Given the description of an element on the screen output the (x, y) to click on. 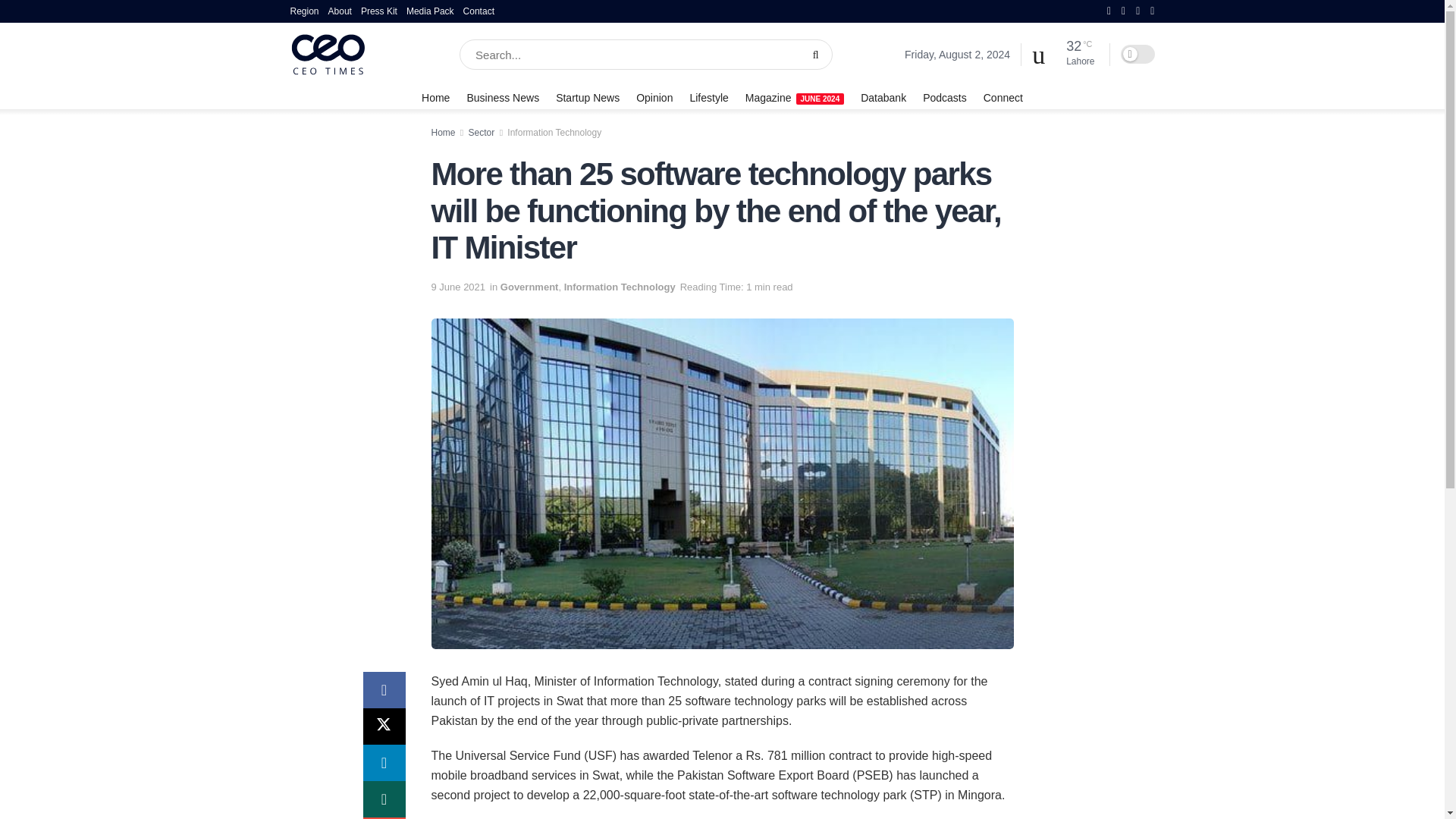
Podcasts (944, 97)
About (340, 11)
Opinion (654, 97)
Connect (1003, 97)
Media Pack (430, 11)
Press Kit (379, 11)
Contact (479, 11)
Home (435, 97)
Lifestyle (708, 97)
Region (303, 11)
